Given the description of an element on the screen output the (x, y) to click on. 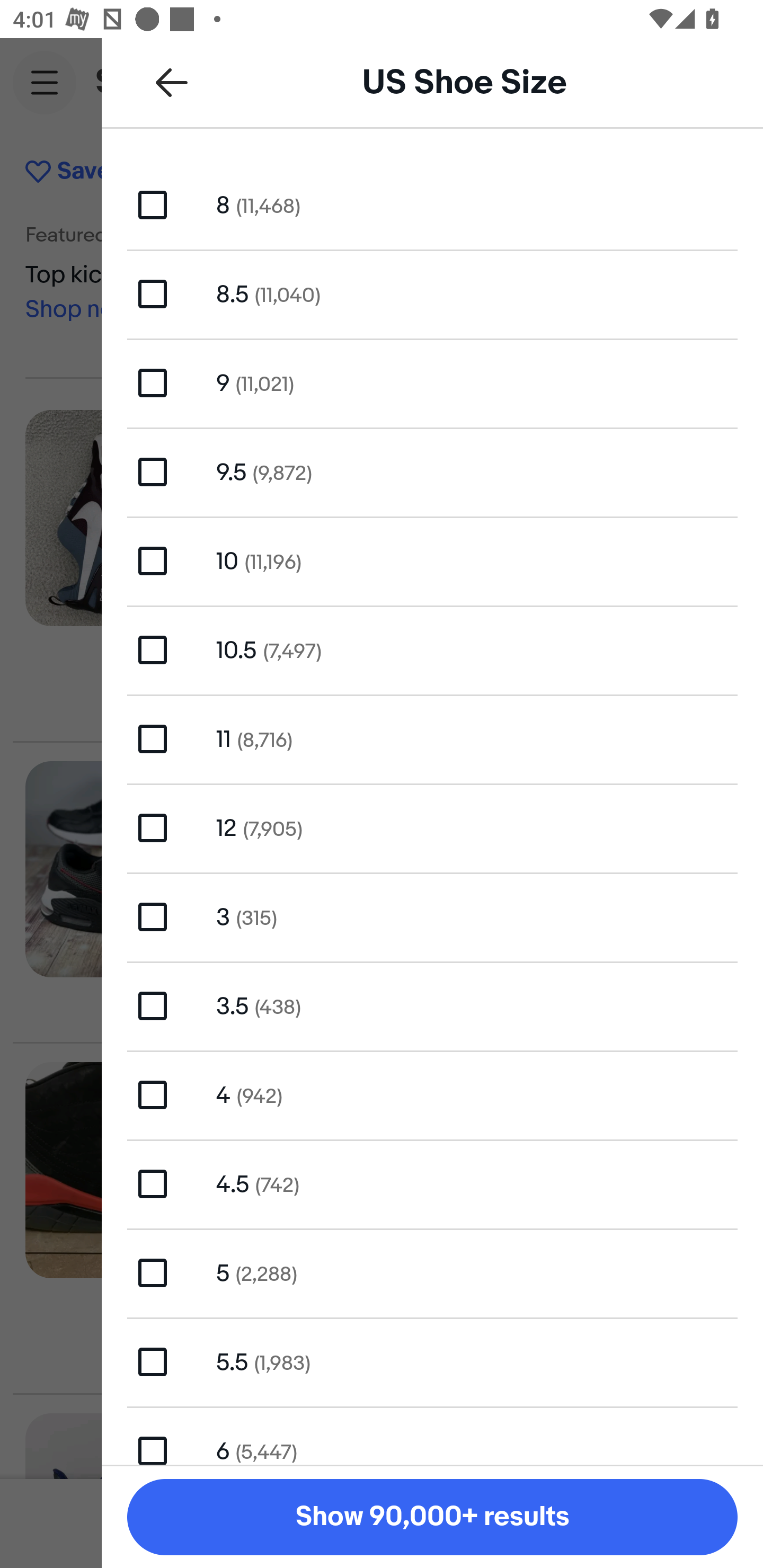
Back to all refinements (171, 81)
8 (11,468) (432, 204)
8.5 (11,040) (432, 293)
9 (11,021) (432, 383)
9.5 (9,872) (432, 471)
10 (11,196) (432, 560)
10.5 (7,497) (432, 649)
11 (8,716) (432, 739)
12 (7,905) (432, 827)
3 (315) (432, 916)
3.5 (438) (432, 1005)
4 (942) (432, 1094)
4.5 (742) (432, 1183)
5 (2,288) (432, 1272)
5.5 (1,983) (432, 1361)
6 (5,447) (432, 1435)
Show 90,000+ results (432, 1516)
